Given the description of an element on the screen output the (x, y) to click on. 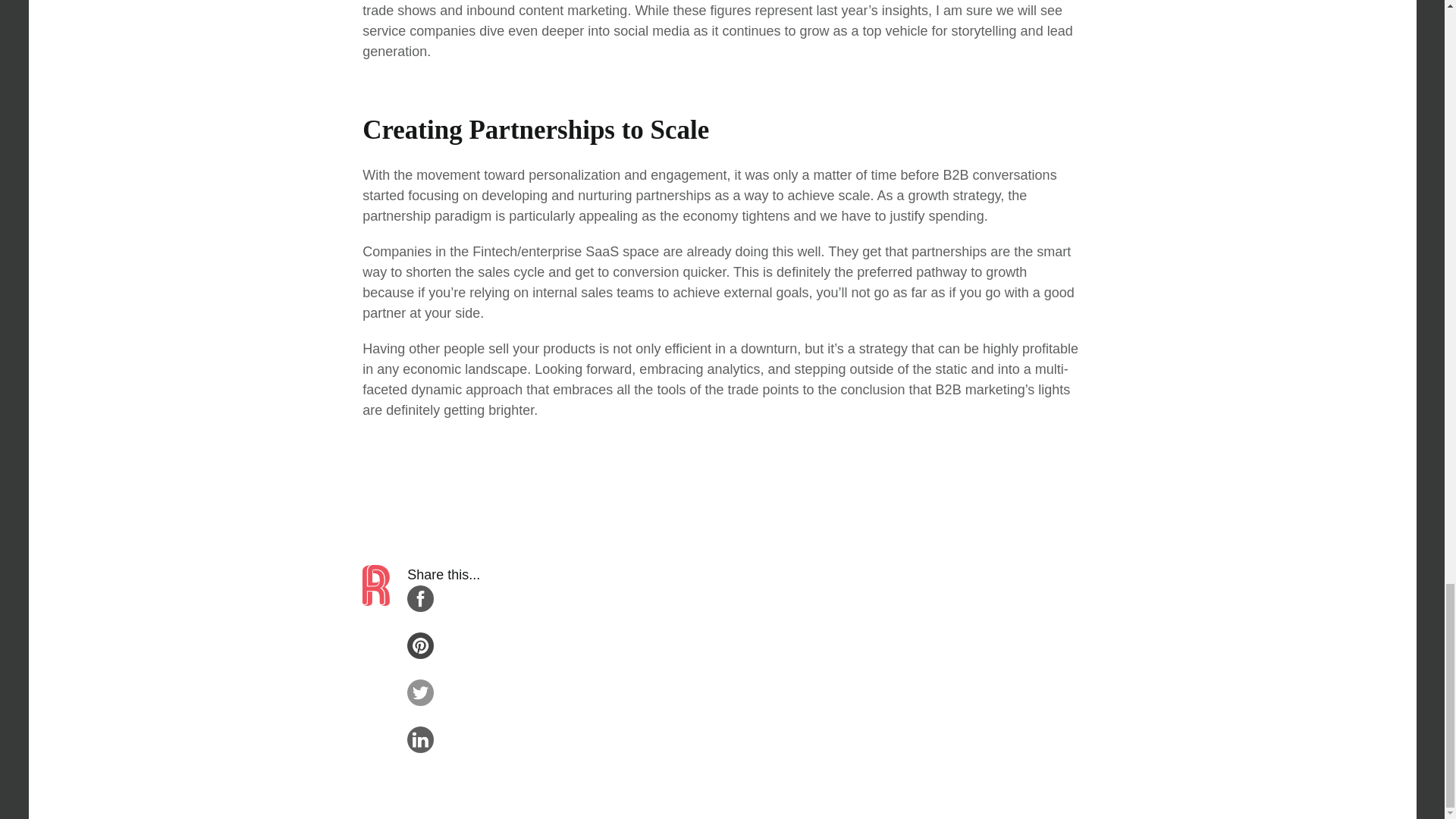
Facebook (443, 620)
Twitter (443, 714)
pinterest (420, 645)
Twitter (443, 715)
Pinterest (443, 668)
Linkedin (443, 762)
Facebook (443, 621)
facebook (420, 598)
linkedin (420, 739)
Pinterest (443, 669)
